Given the description of an element on the screen output the (x, y) to click on. 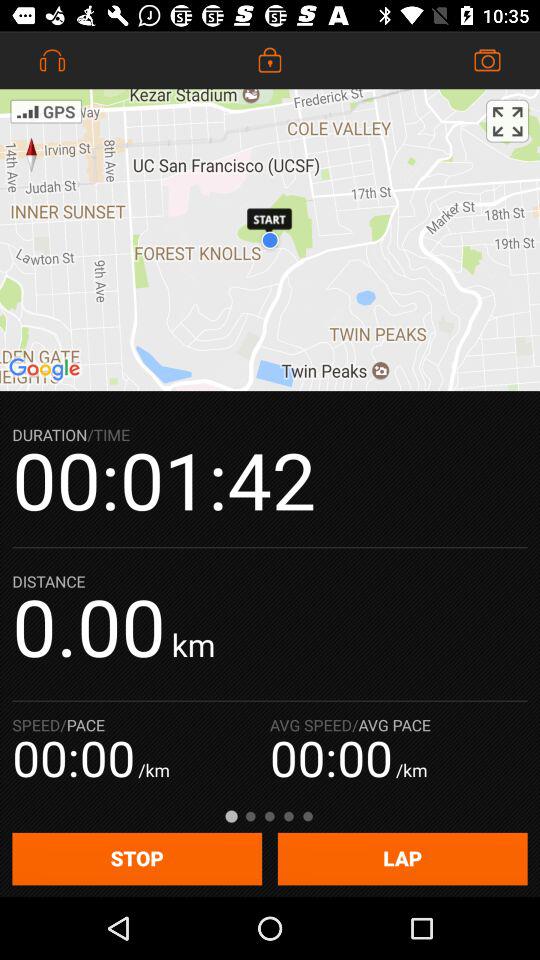
open the lap icon (402, 858)
